Given the description of an element on the screen output the (x, y) to click on. 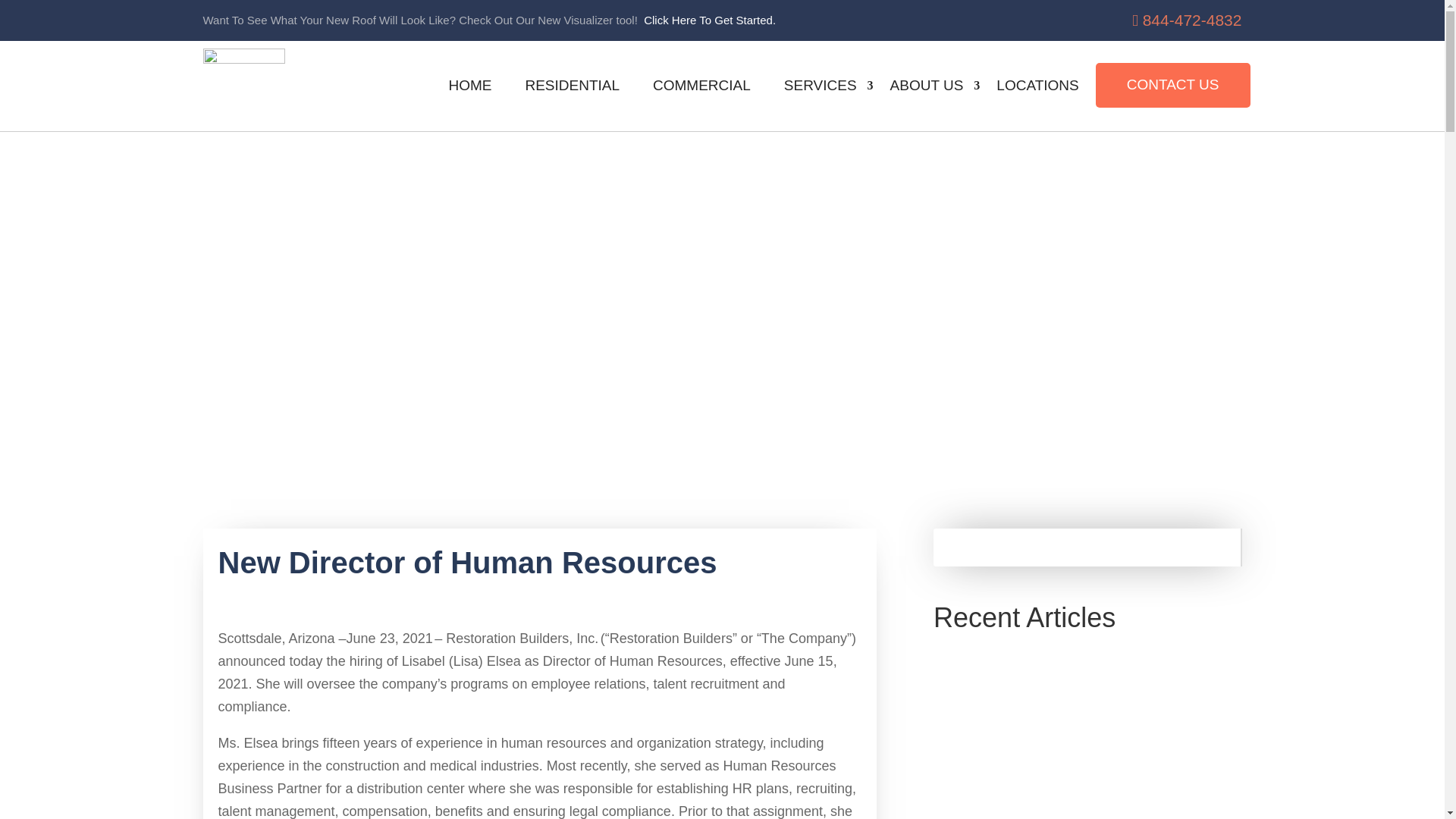
COMMERCIAL (701, 85)
Visualizer (709, 19)
SERVICES (820, 85)
CONTACT US (1172, 85)
ABOUT US (926, 85)
RESIDENTIAL (572, 85)
HOME (469, 85)
LOCATIONS (1036, 85)
Click Here To Get Started. (709, 19)
